Given the description of an element on the screen output the (x, y) to click on. 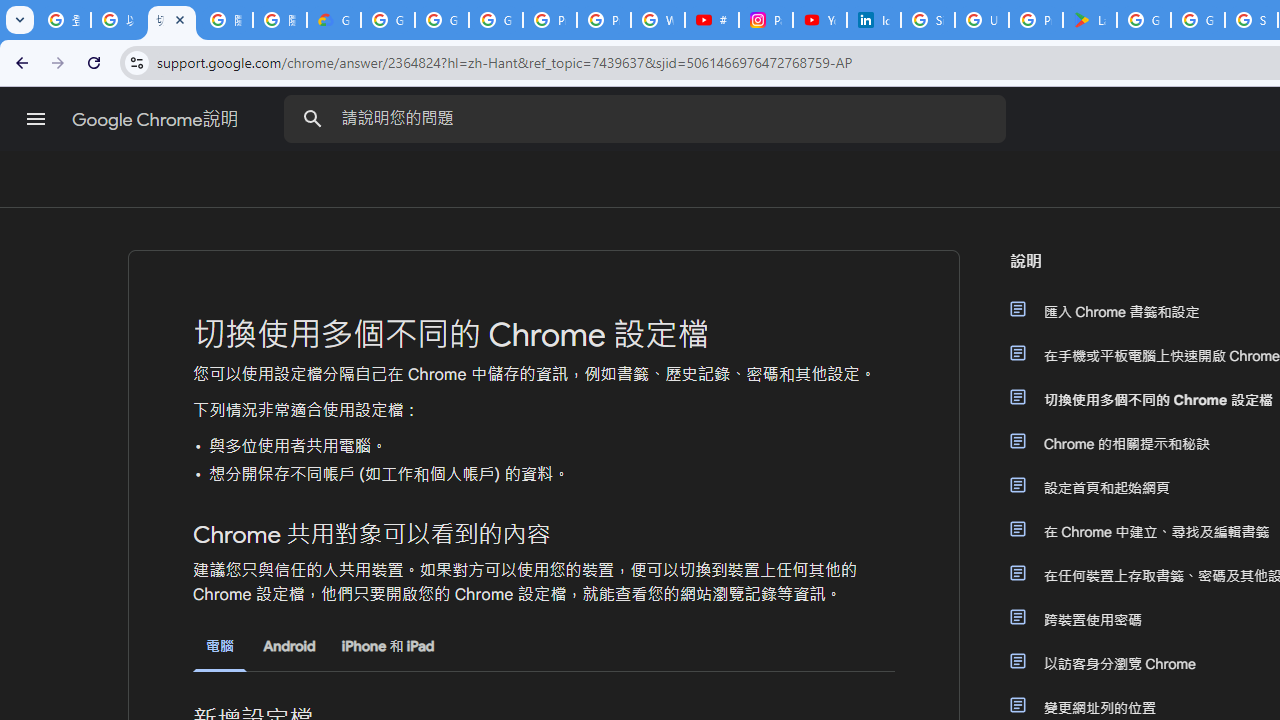
#nbabasketballhighlights - YouTube (711, 20)
Google Workspace - Specific Terms (1197, 20)
Android (288, 646)
